Given the description of an element on the screen output the (x, y) to click on. 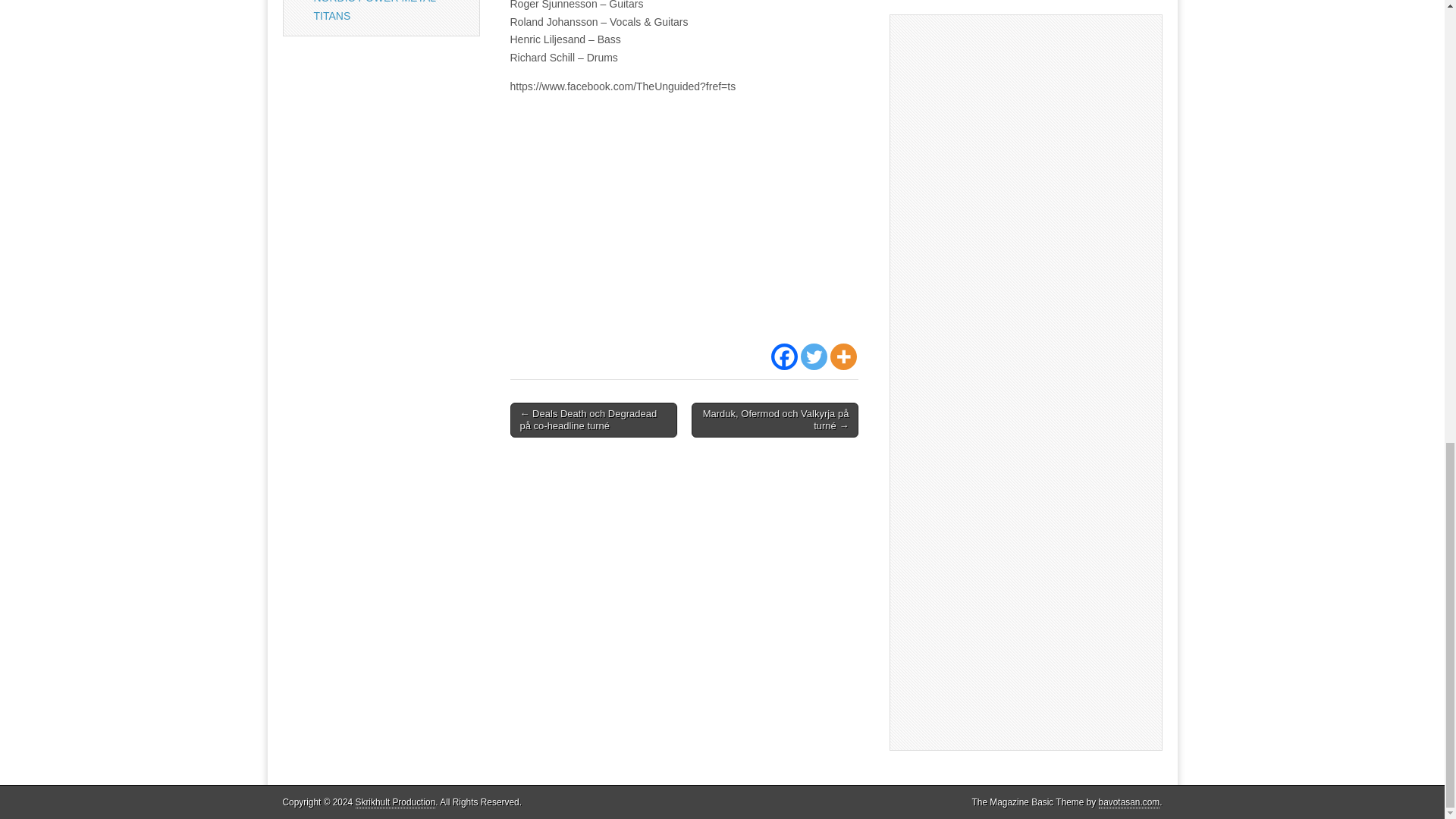
Facebook (784, 356)
Twitter (813, 356)
More (843, 356)
